Given the description of an element on the screen output the (x, y) to click on. 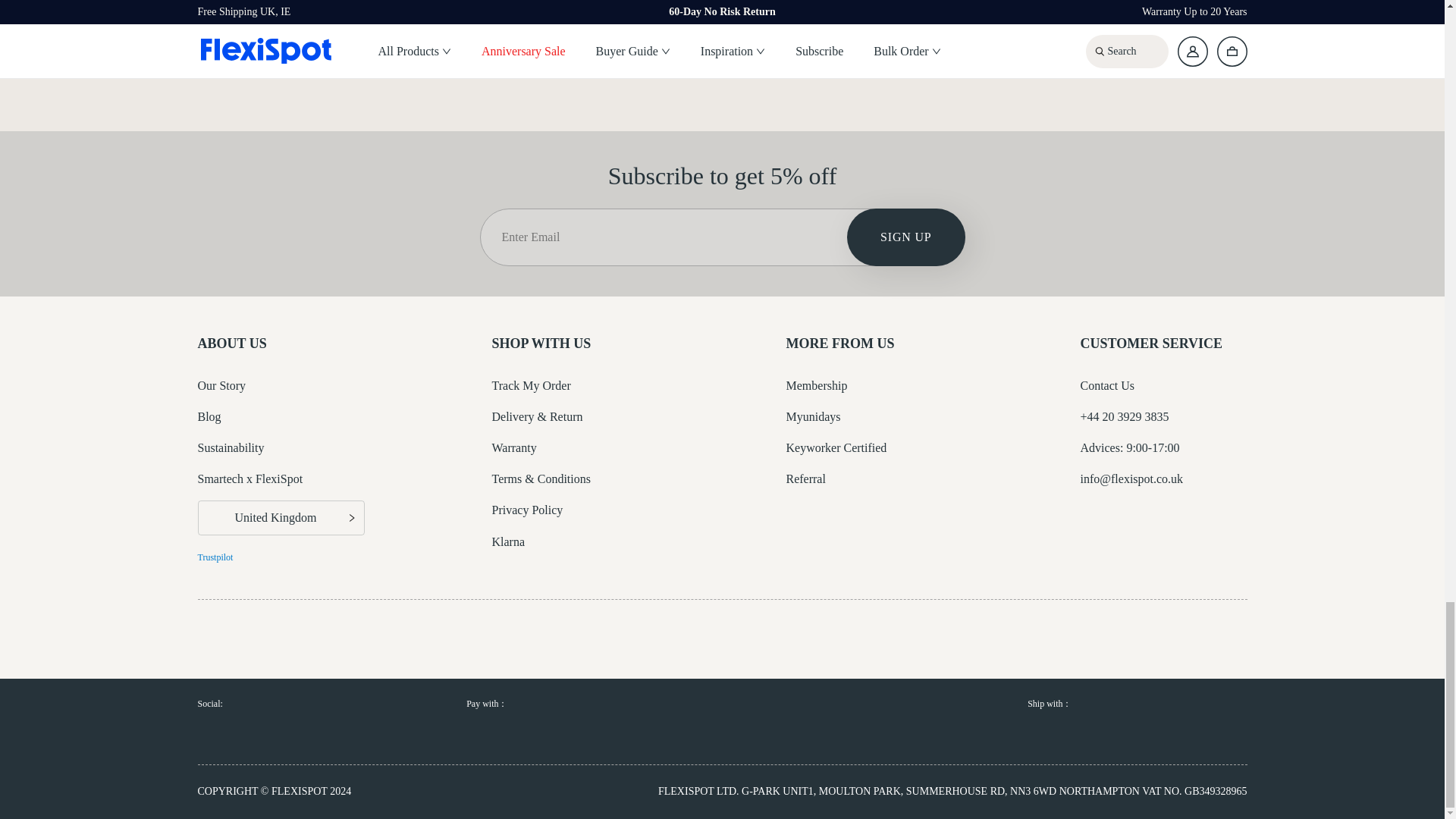
Myunidays (813, 416)
Contact Us (1107, 385)
Track My Order (531, 385)
Keyworker Certified (836, 447)
Referral (805, 478)
Privacy Policy (527, 509)
Blog (208, 416)
Sustainability (229, 447)
Klarna (508, 541)
Smartech x FlexiSpot (249, 478)
